Given the description of an element on the screen output the (x, y) to click on. 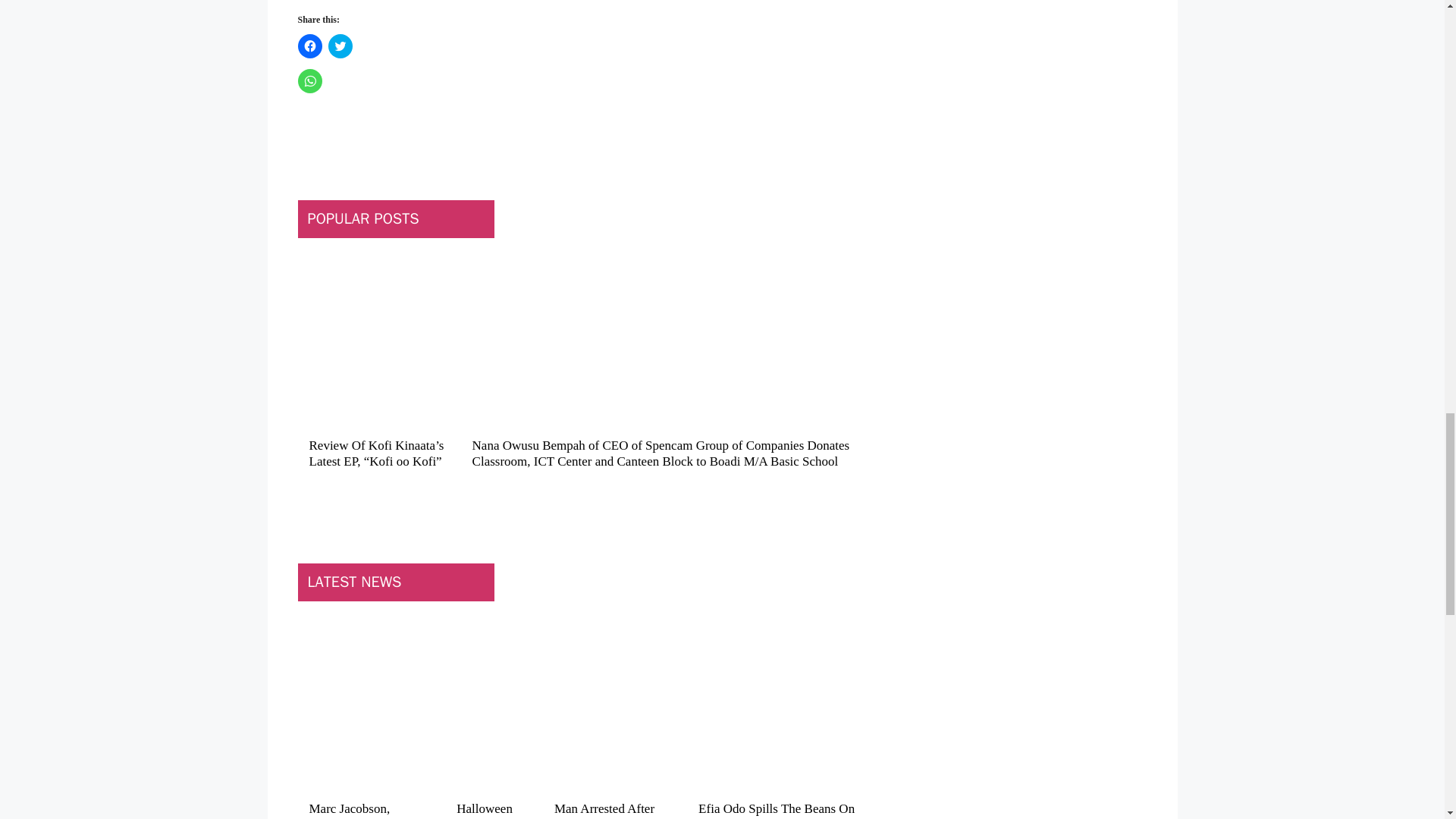
Click to share on Facebook (309, 46)
Click to share on Twitter (339, 46)
Click to share on WhatsApp (309, 80)
